Given the description of an element on the screen output the (x, y) to click on. 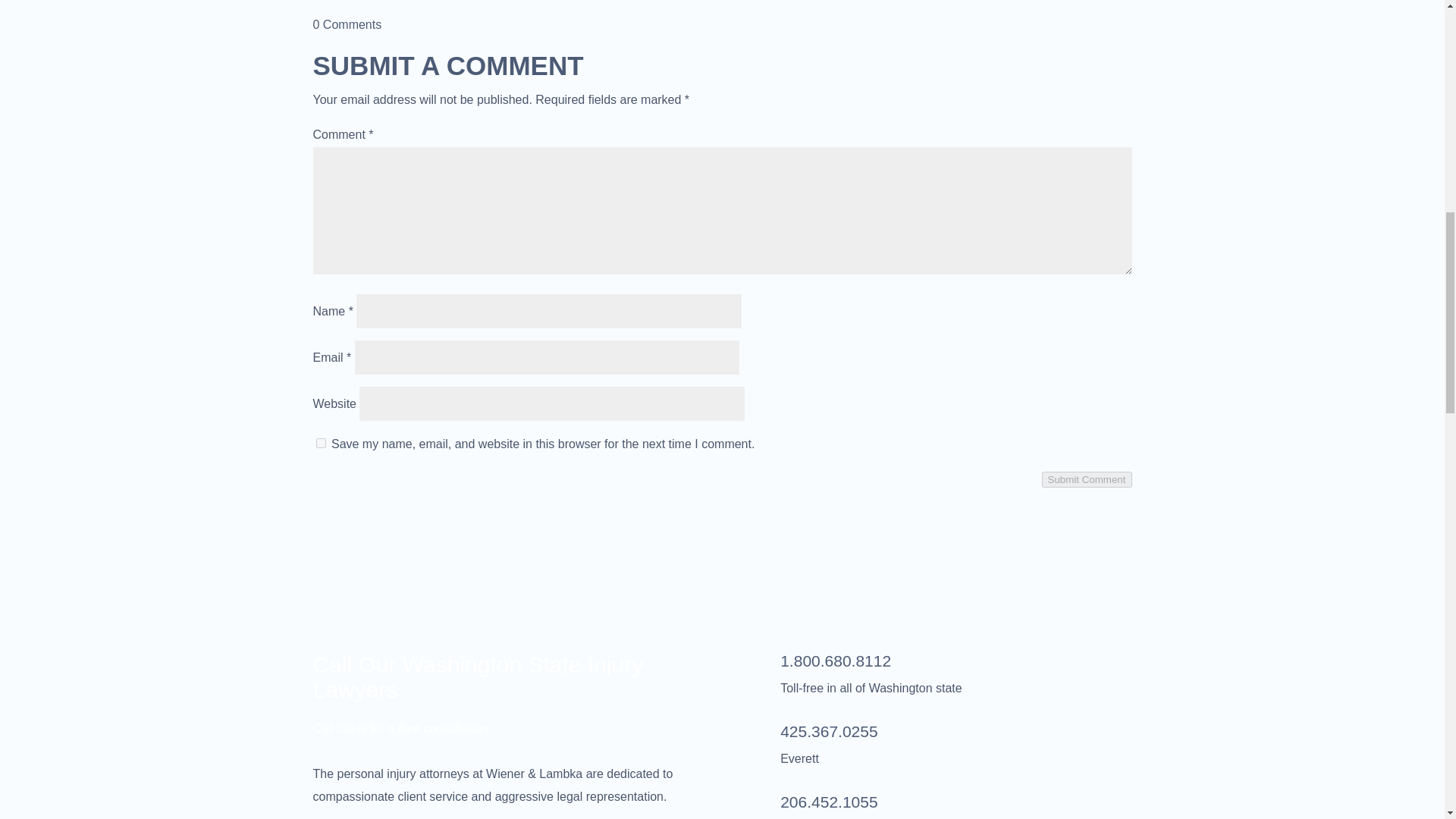
yes (319, 442)
